Given the description of an element on the screen output the (x, y) to click on. 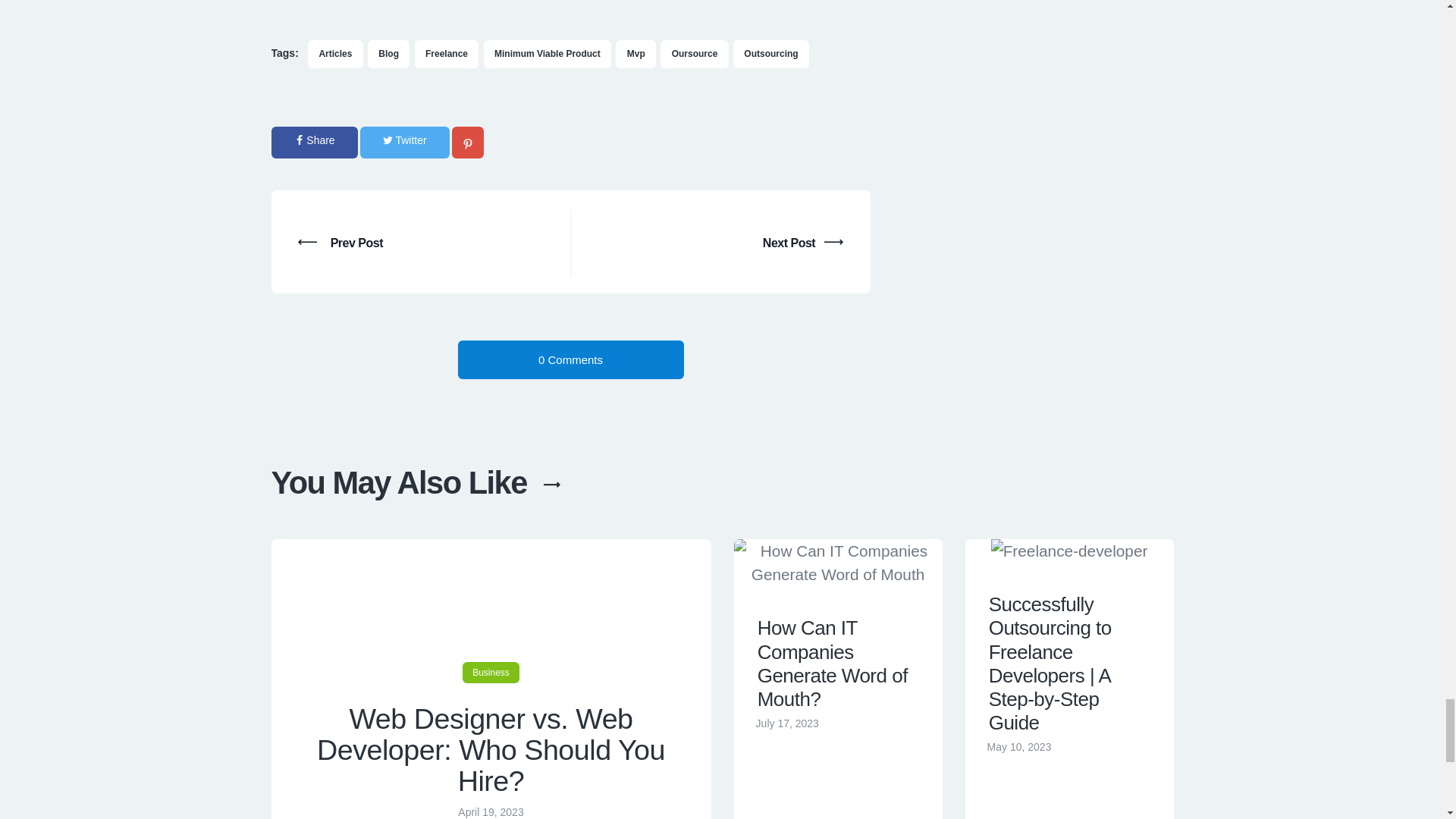
Mvp (635, 54)
Oursource (694, 54)
Freelance (446, 54)
Minimum Viable Product (547, 54)
Blog (388, 54)
Articles (334, 54)
Outsourcing (771, 54)
